Given the description of an element on the screen output the (x, y) to click on. 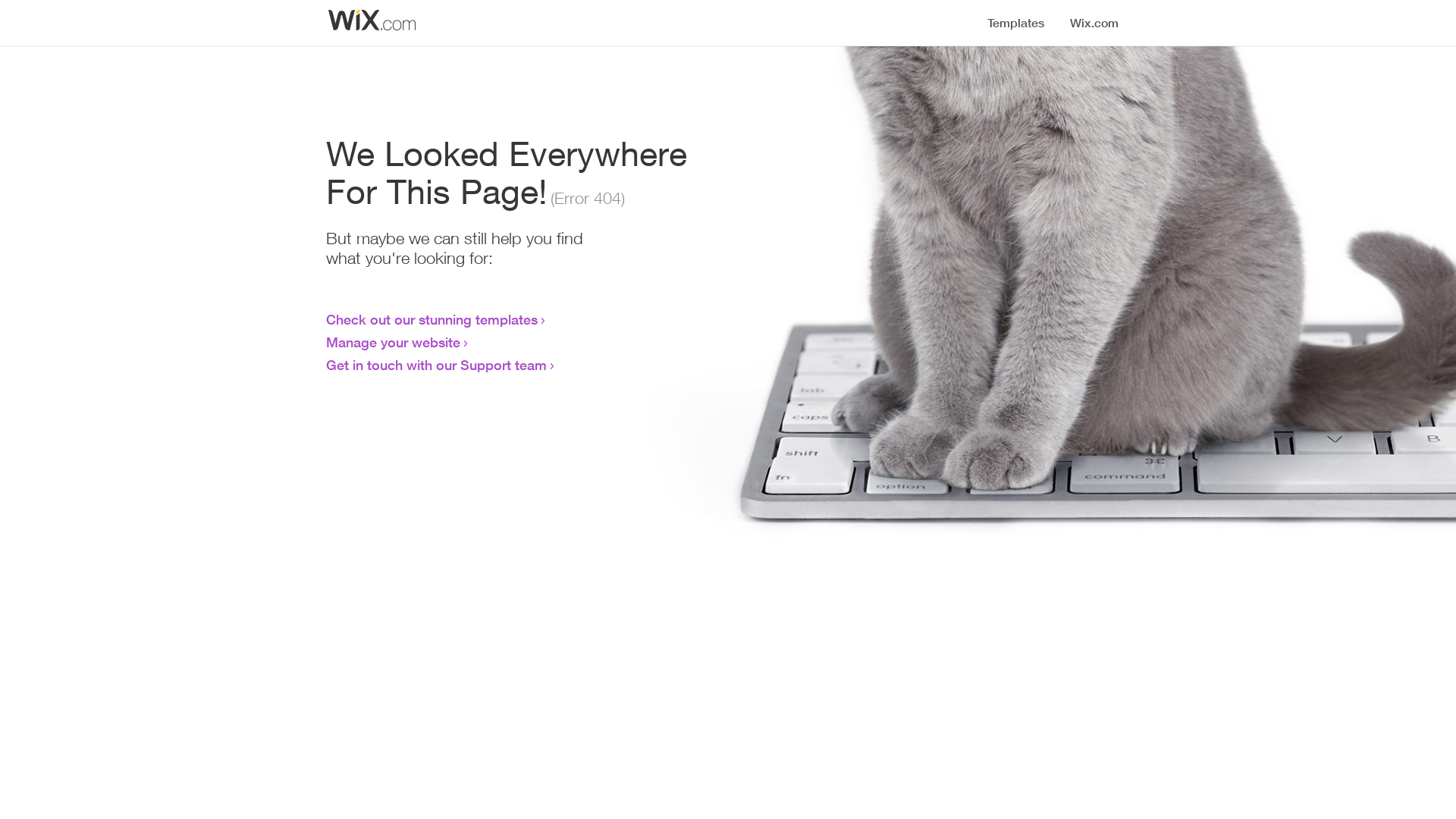
Get in touch with our Support team Element type: text (436, 364)
Check out our stunning templates Element type: text (431, 318)
Manage your website Element type: text (393, 341)
